Given the description of an element on the screen output the (x, y) to click on. 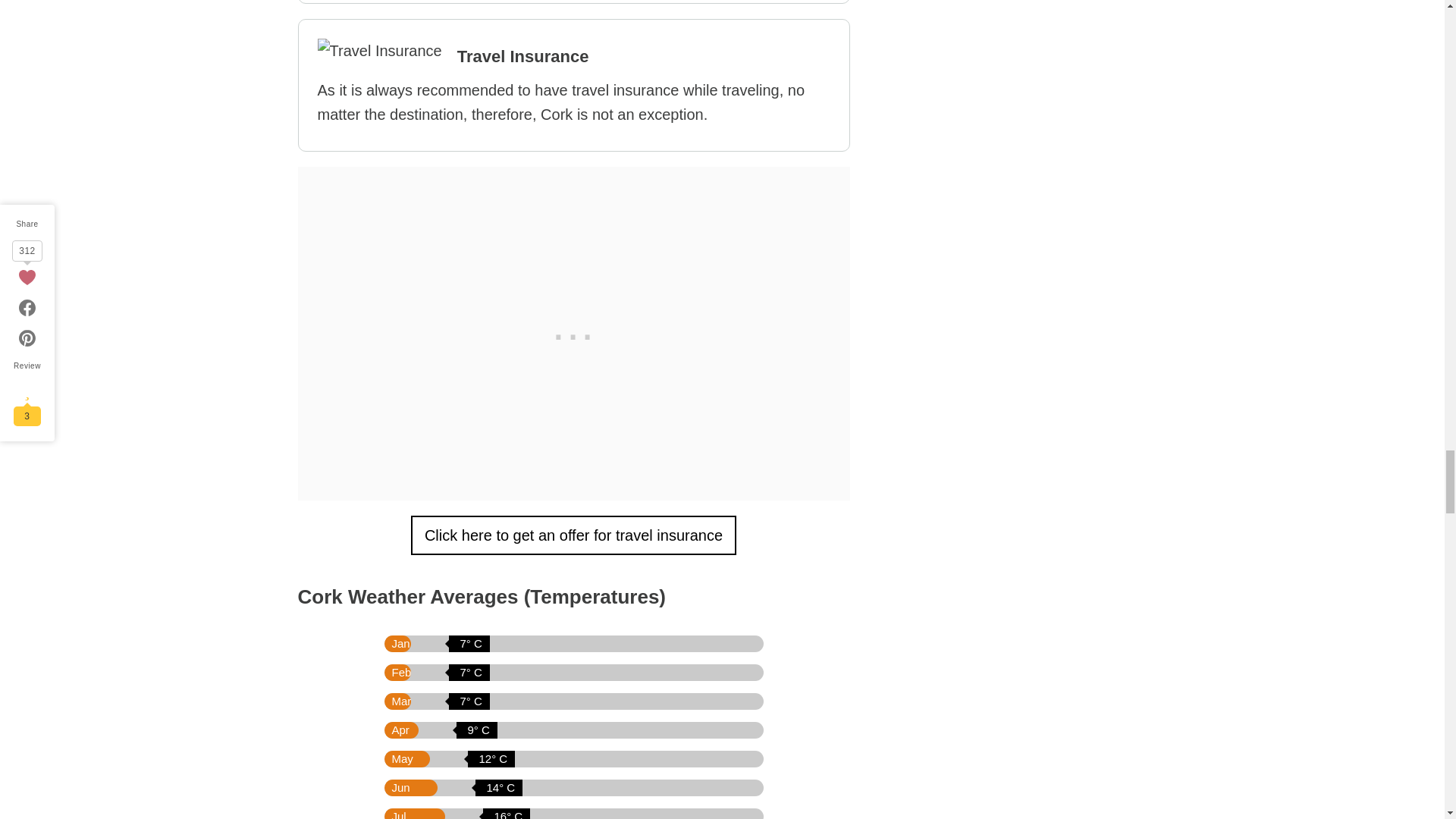
Click here to get an offer for travel insurance (573, 535)
